Given the description of an element on the screen output the (x, y) to click on. 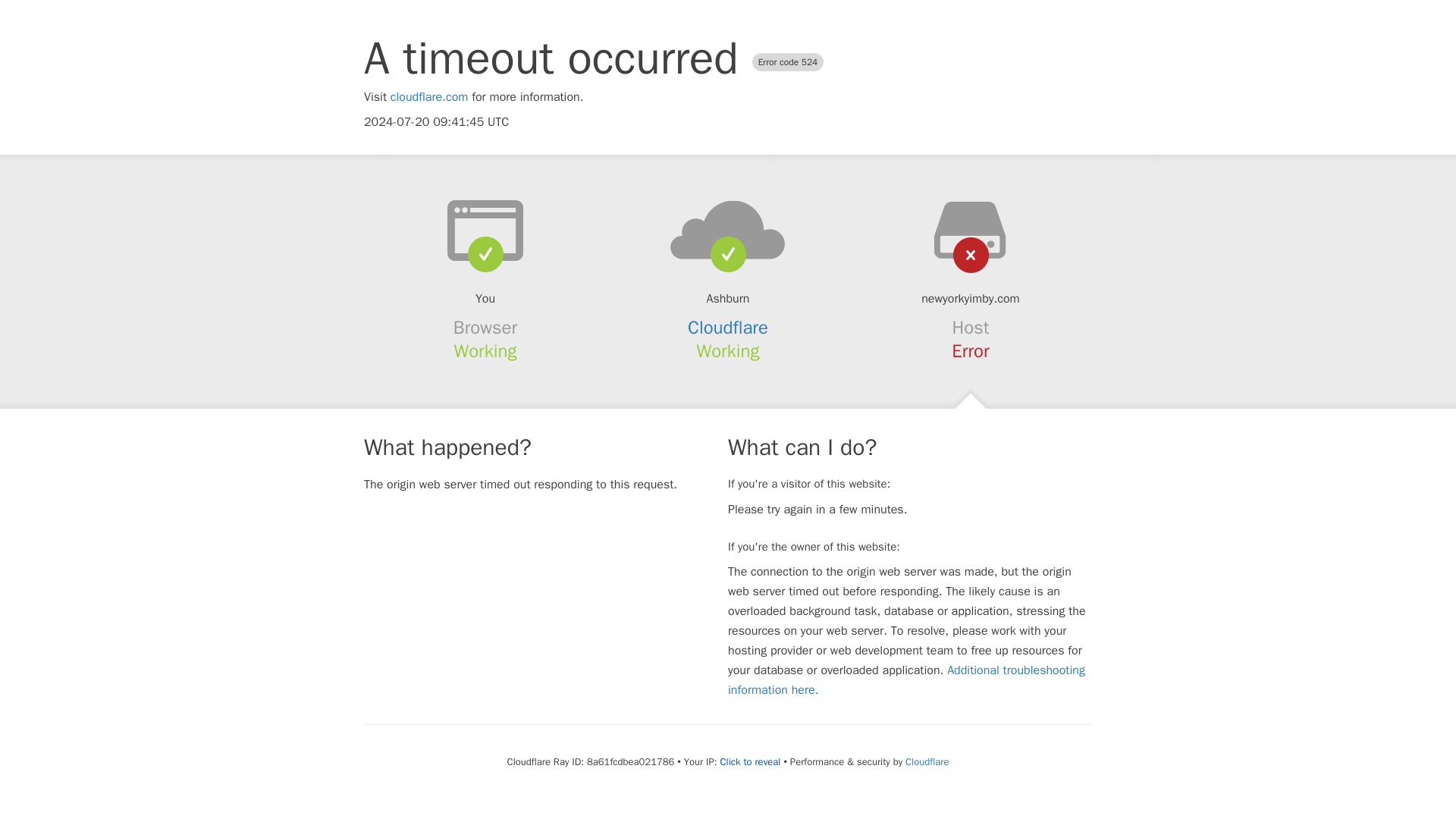
Cloudflare (927, 761)
cloudflare.com (429, 96)
Click to reveal (750, 762)
Additional troubleshooting information here. (906, 679)
Cloudflare (727, 327)
